Given the description of an element on the screen output the (x, y) to click on. 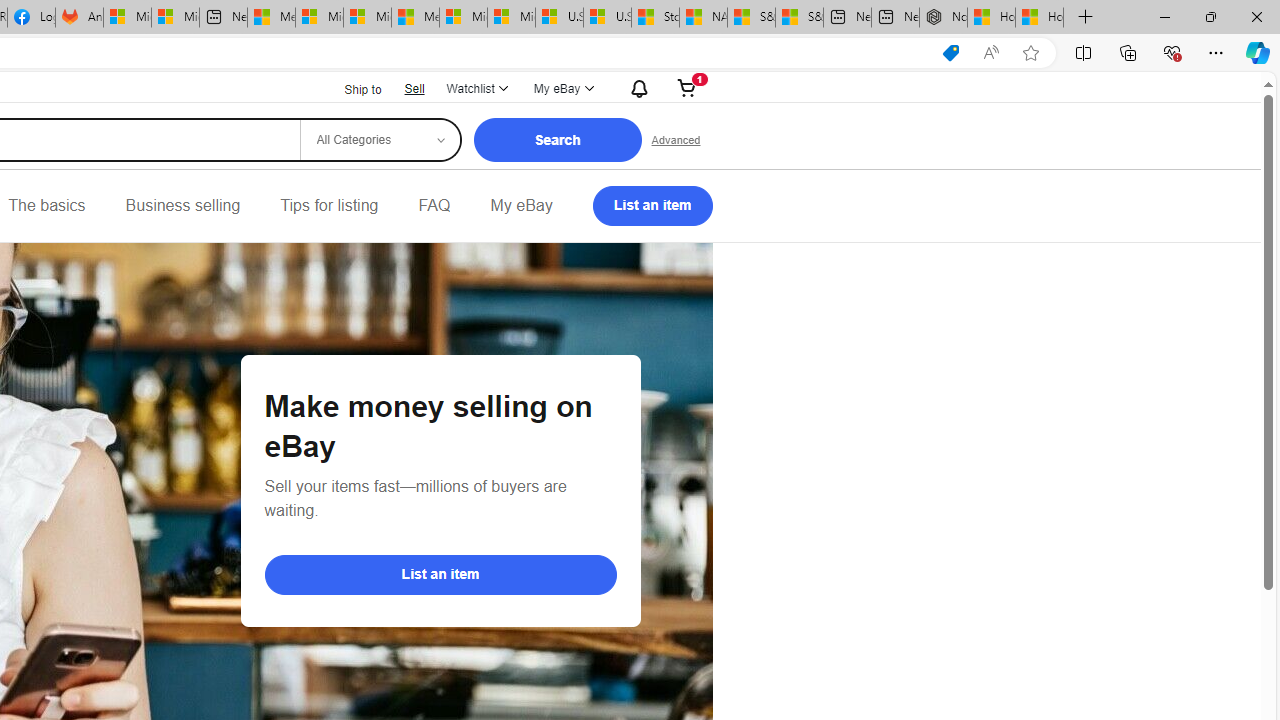
Expand Cart (687, 88)
Ship to (349, 89)
The basics (46, 205)
This site has coupons! Shopping in Microsoft Edge (950, 53)
Business selling (182, 205)
Ship to (349, 88)
Tips for listing (329, 205)
How to Use a Monitor With Your Closed Laptop (1039, 17)
Microsoft account | Home (367, 17)
